Given the description of an element on the screen output the (x, y) to click on. 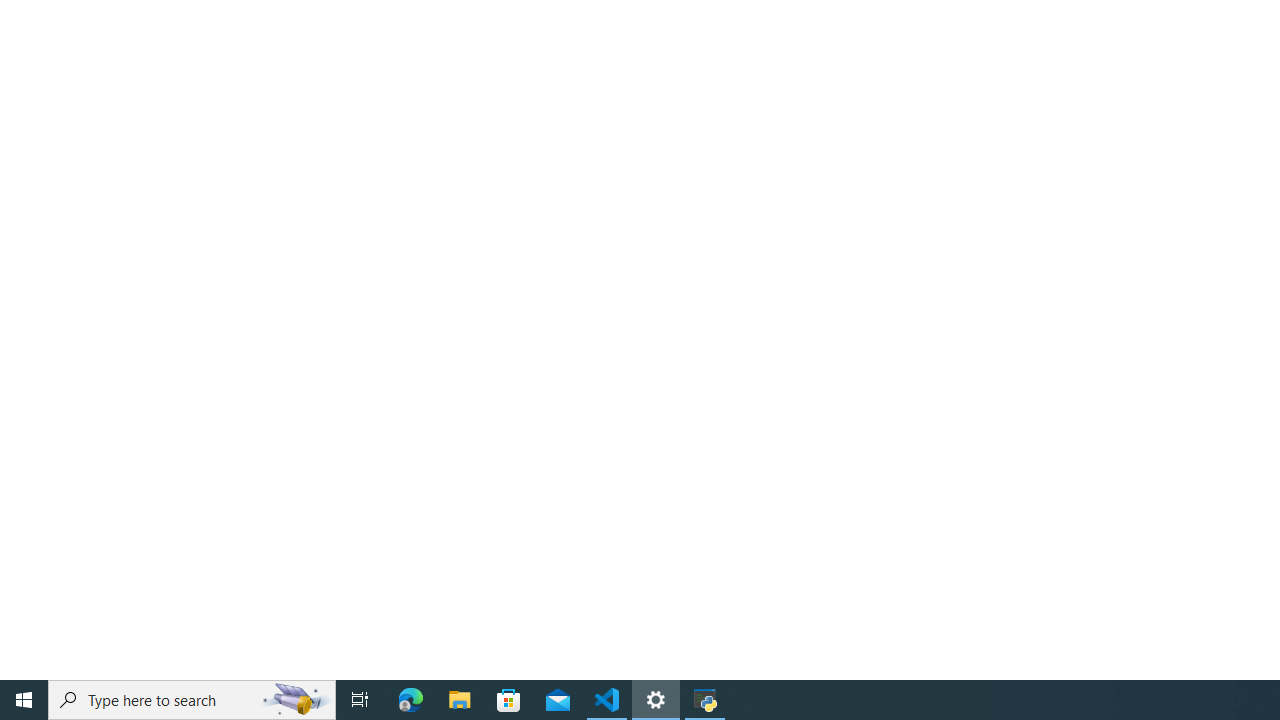
Visual Studio Code - 1 running window (607, 699)
Task View (359, 699)
File Explorer (460, 699)
Search highlights icon opens search home window (295, 699)
Microsoft Edge (411, 699)
Type here to search (191, 699)
Settings - 1 running window (656, 699)
Microsoft Store (509, 699)
Start (24, 699)
